Given the description of an element on the screen output the (x, y) to click on. 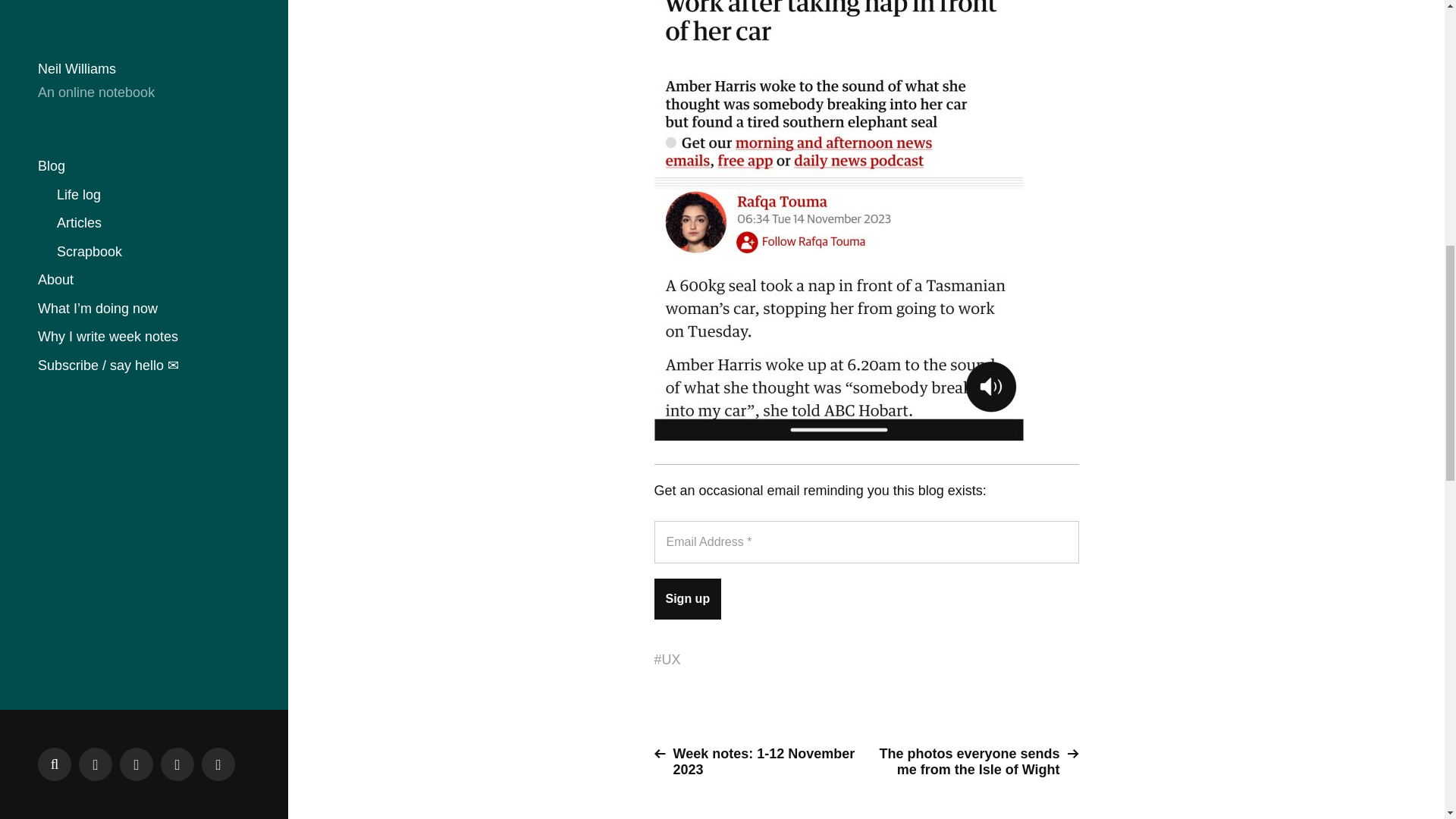
Week notes: 1-12 November 2023 (753, 762)
Sign up (686, 598)
Sign up (686, 598)
UX (671, 659)
The photos everyone sends me from the Isle of Wight (977, 762)
Email Address (865, 541)
